Given the description of an element on the screen output the (x, y) to click on. 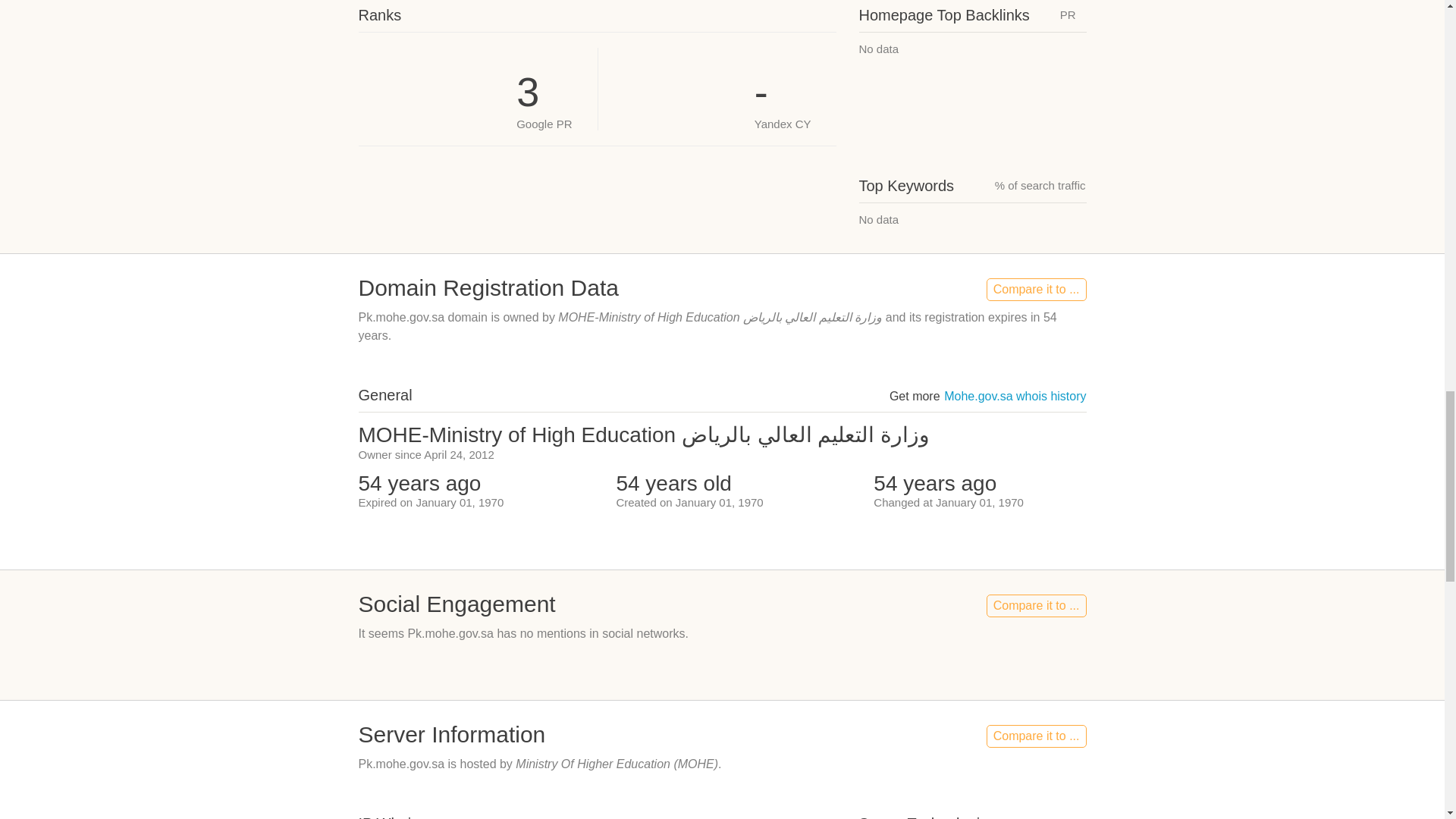
Compare it to ... (1036, 605)
Compare it to ... (1036, 289)
Mohe.gov.sa whois history (1014, 395)
Compare it to ... (1036, 735)
